Given the description of an element on the screen output the (x, y) to click on. 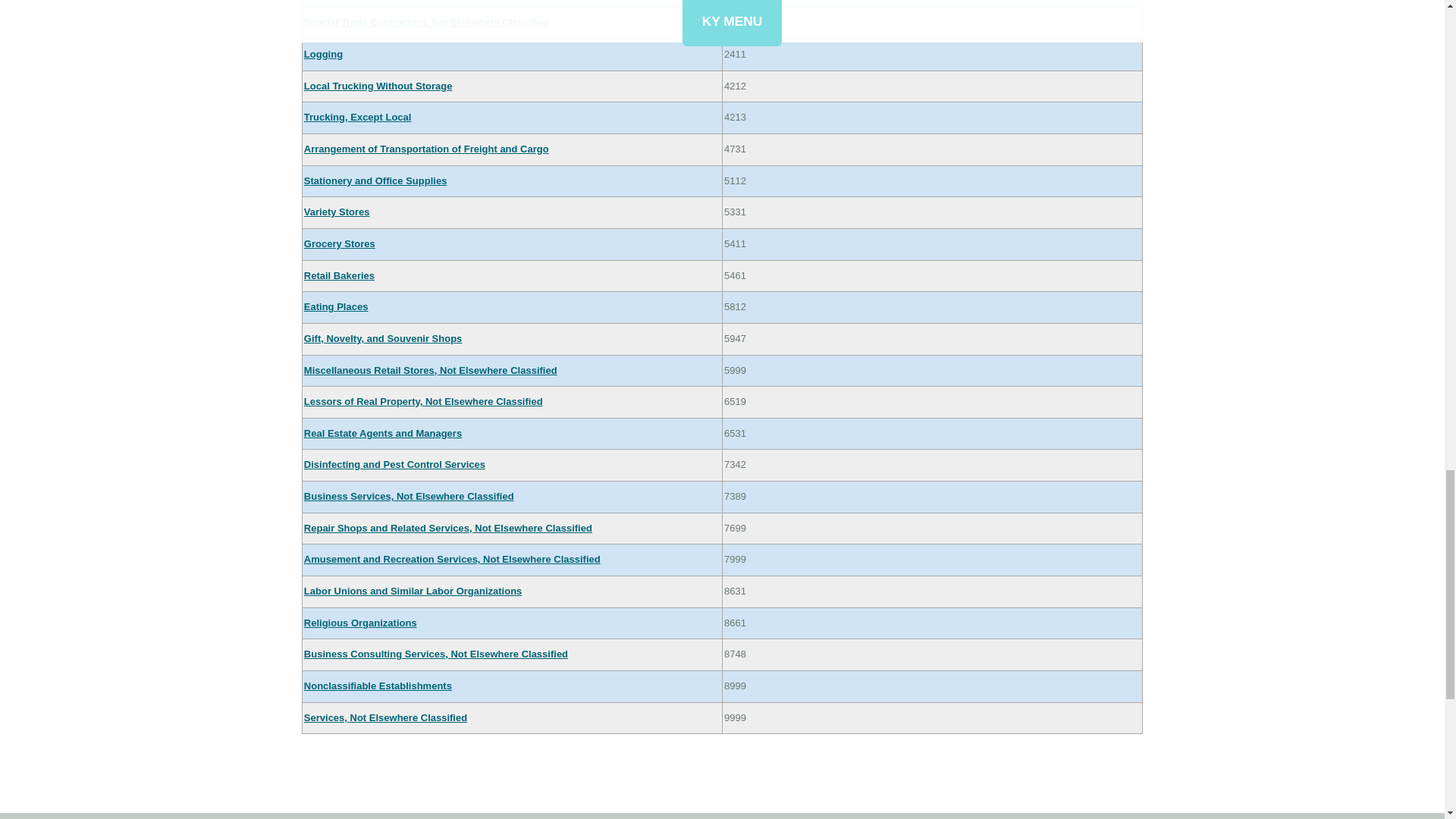
Trucking, Except Local (358, 116)
Gift, Novelty, and Souvenir Shops (383, 337)
Religious Organizations (360, 622)
Logging (323, 53)
Lessors of Real Property, Not Elsewhere Classified (423, 401)
Variety Stores (336, 211)
Miscellaneous Retail Stores, Not Elsewhere Classified (430, 369)
Arrangement of Transportation of Freight and Cargo (426, 148)
Real Estate Agents and Managers (382, 432)
Eating Places (336, 306)
Special Trade Contractors, Not Elsewhere Classified (426, 21)
Disinfecting and Pest Control Services (394, 464)
Repair Shops and Related Services, Not Elsewhere Classified (448, 527)
Amusement and Recreation Services, Not Elsewhere Classified (451, 559)
Retail Bakeries (339, 275)
